Given the description of an element on the screen output the (x, y) to click on. 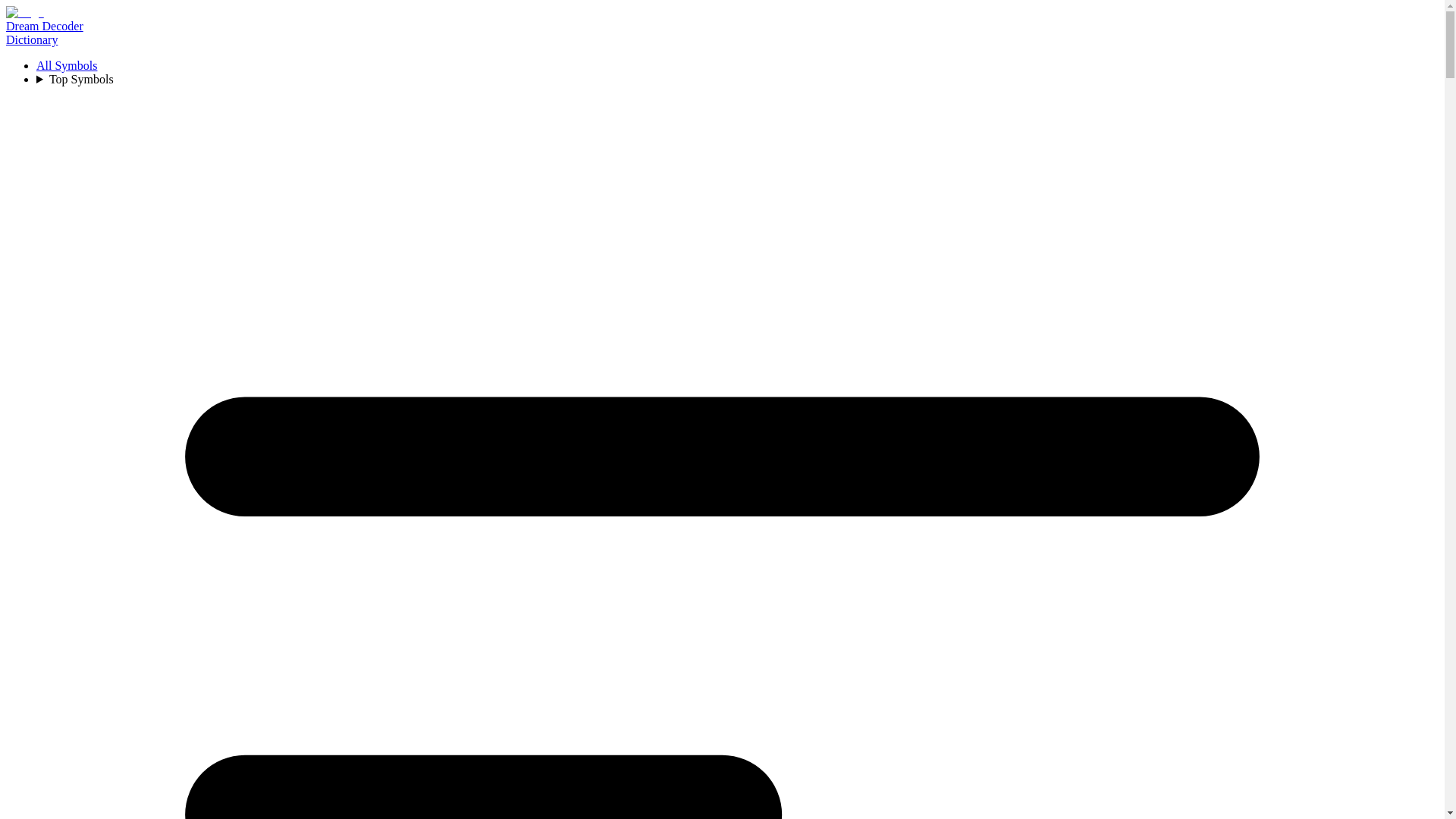
All Symbols (66, 65)
